Given the description of an element on the screen output the (x, y) to click on. 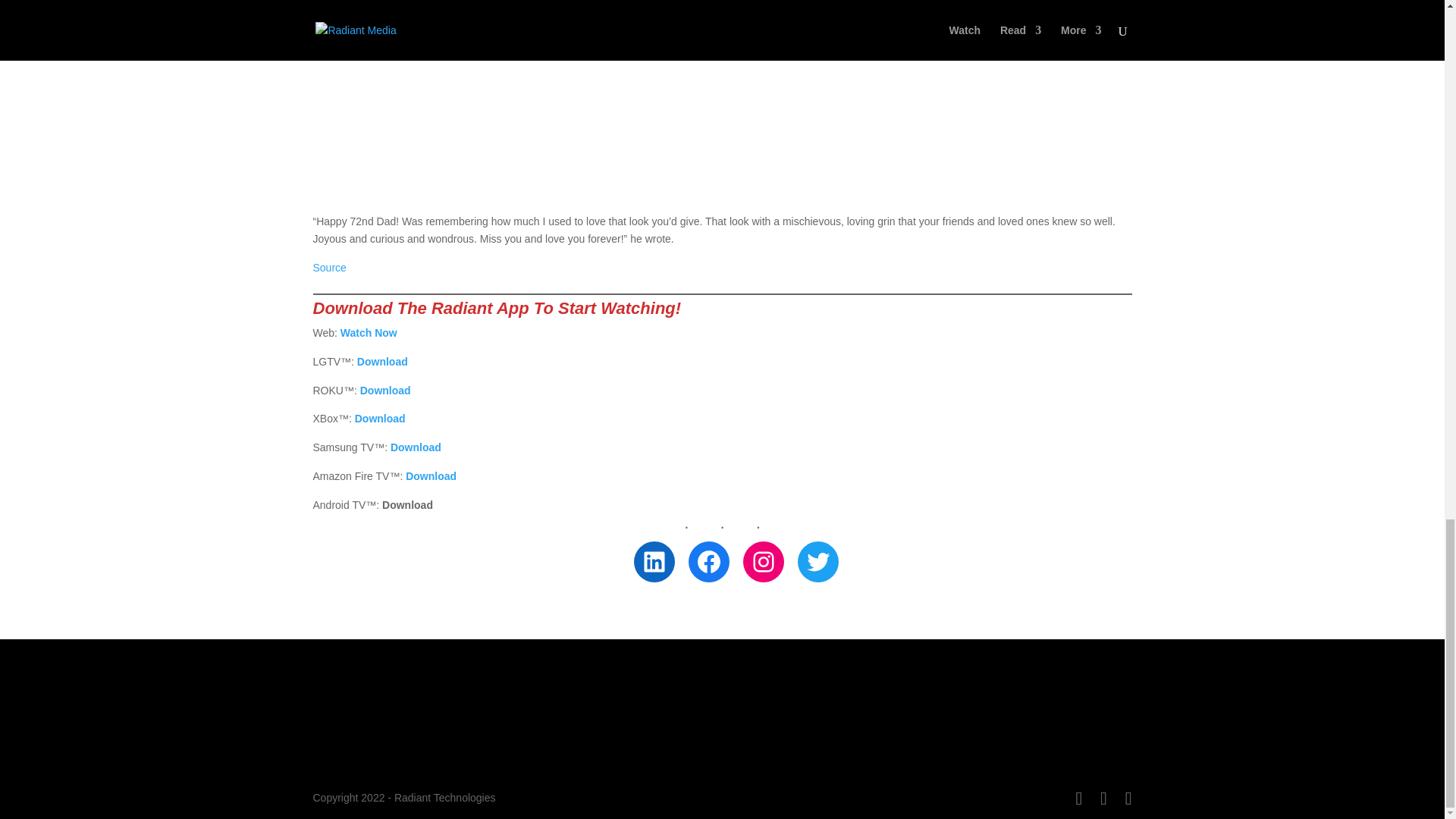
Download (415, 447)
Facebook (708, 561)
Watch Now (368, 332)
Download (381, 361)
Download (431, 476)
Instagram (763, 561)
LinkedIn (654, 561)
Source (329, 267)
Download (380, 418)
Download (384, 390)
